Given the description of an element on the screen output the (x, y) to click on. 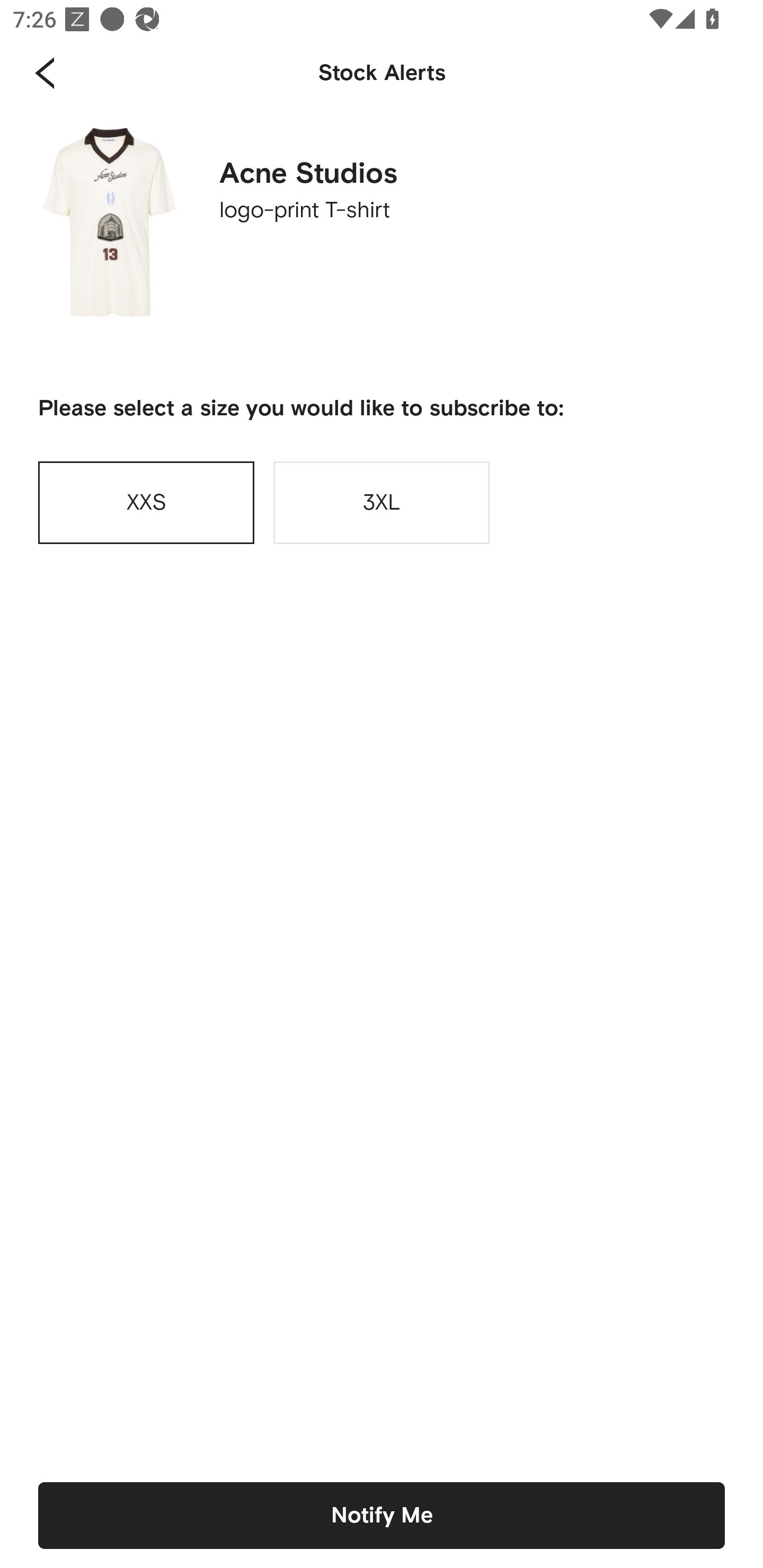
XXS (146, 502)
3XL (381, 502)
Notify Me (381, 1515)
